Given the description of an element on the screen output the (x, y) to click on. 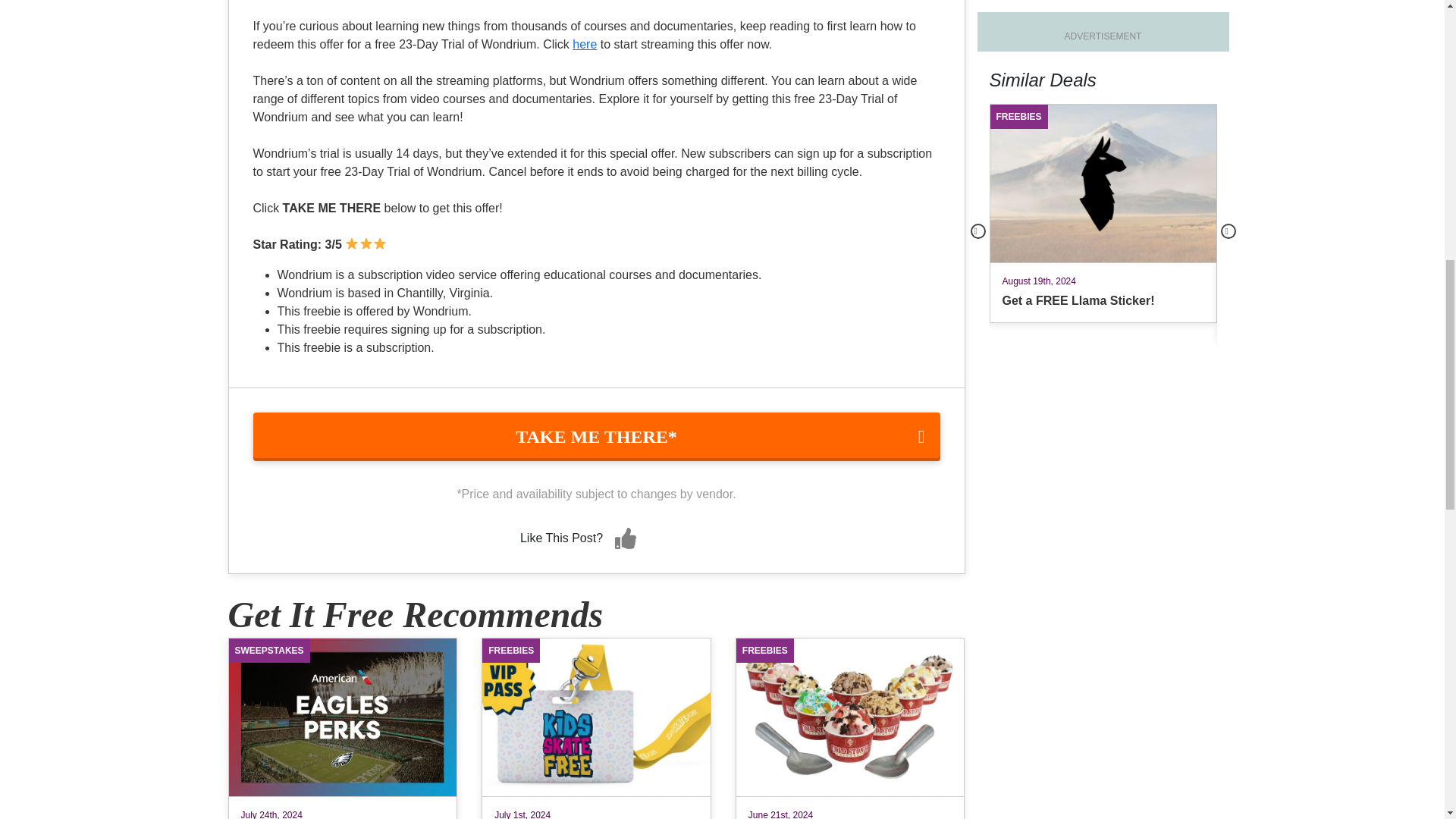
here (584, 43)
